Given the description of an element on the screen output the (x, y) to click on. 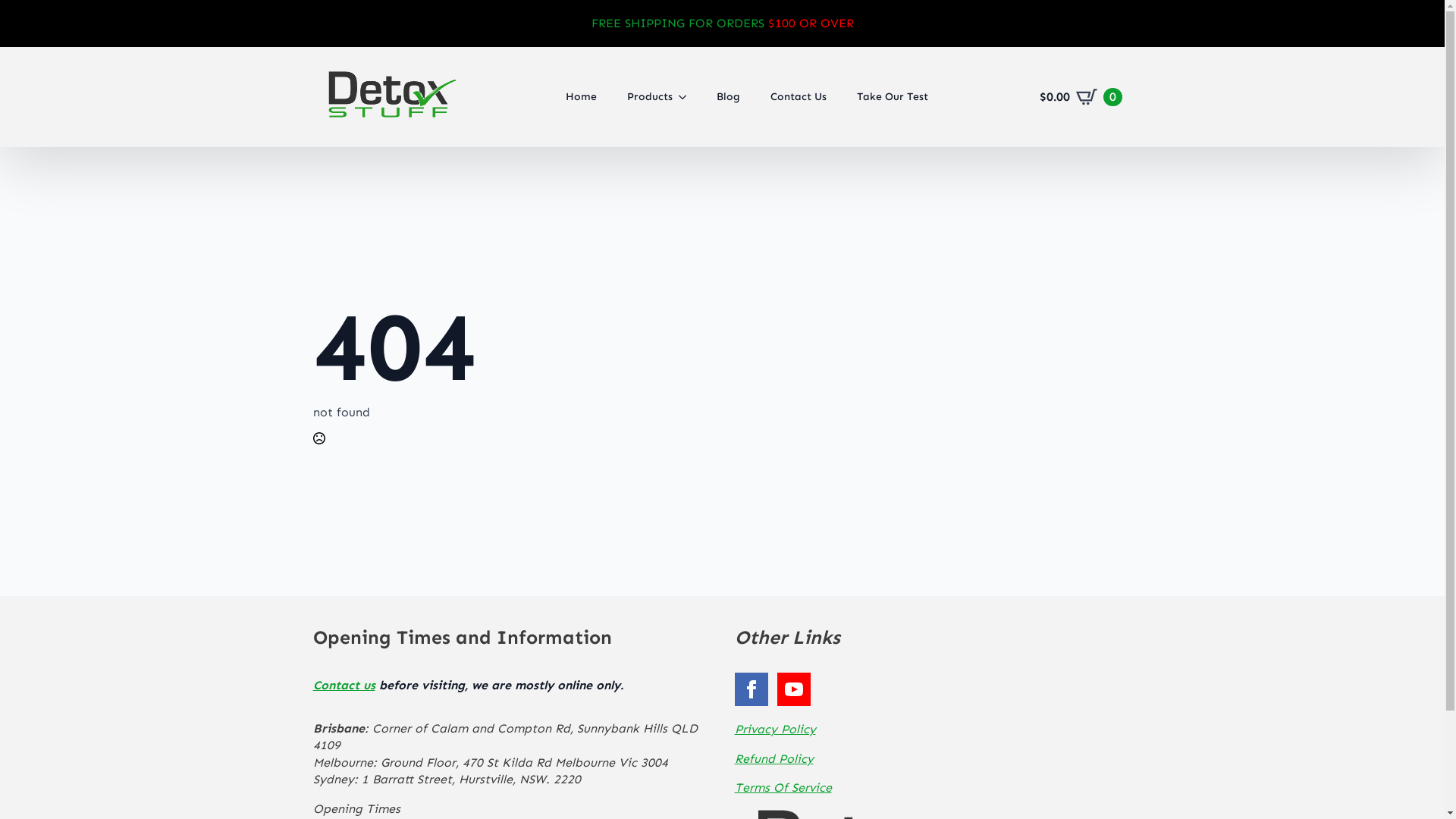
Blog Element type: text (728, 96)
Home Element type: text (580, 96)
Terms Of Service Element type: text (847, 787)
Products Element type: text (641, 96)
$0.00
0 Element type: text (1080, 96)
Take Our Test Element type: text (892, 96)
Contact Us Element type: text (798, 96)
Privacy Policy Element type: text (847, 729)
Contact us Element type: text (343, 684)
Refund Policy Element type: text (847, 758)
